Given the description of an element on the screen output the (x, y) to click on. 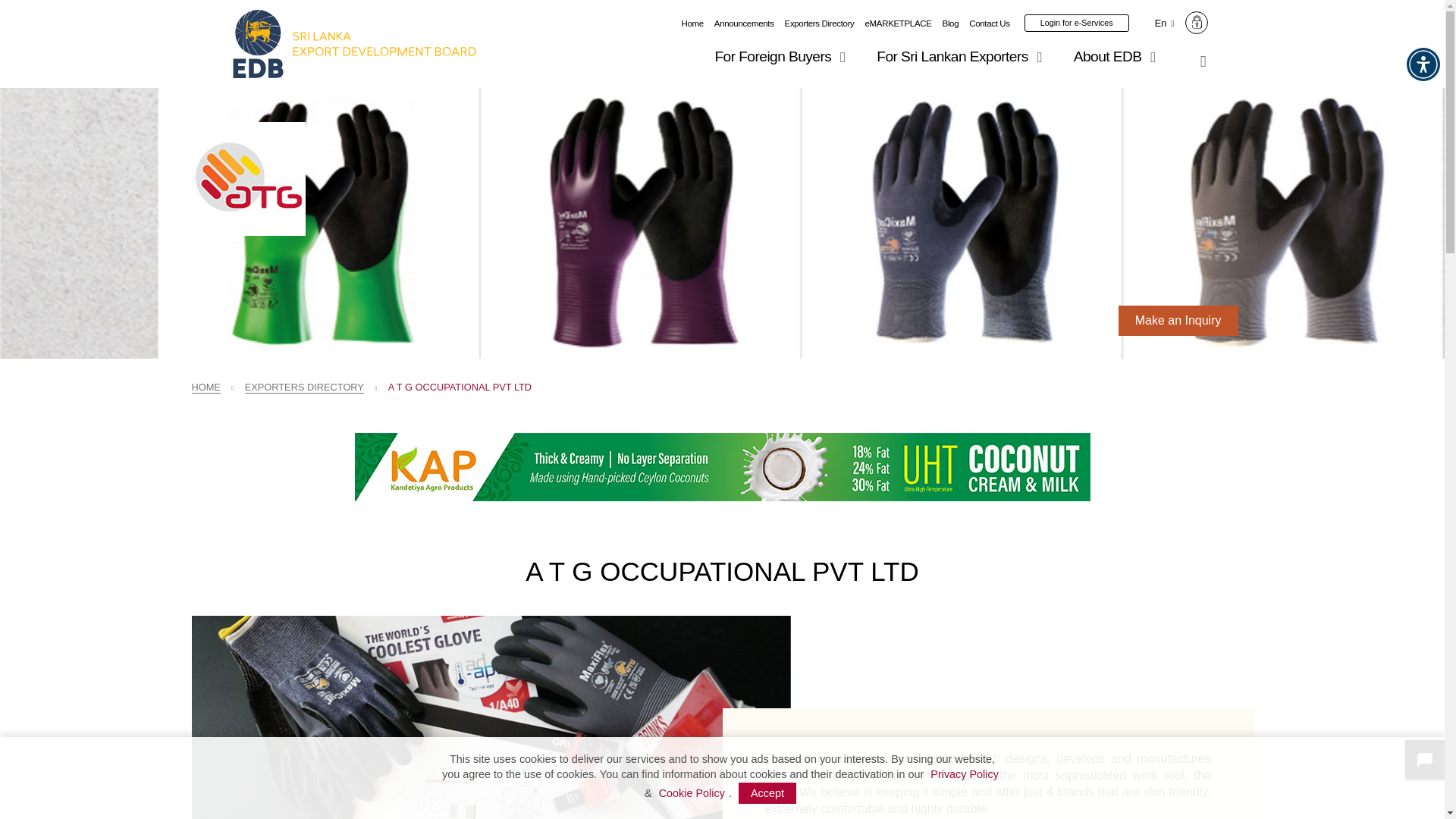
About EDB (1117, 56)
For Foreign Buyers (782, 56)
Login for e-Services (1077, 22)
Sign in (1196, 22)
Exporters Directory (819, 22)
Blog (950, 22)
For Sri Lankan Exporters (961, 56)
Login for e-Services (1077, 22)
Make an Inquiry (1178, 320)
Home (692, 22)
A T G OCCUPATIONAL PVT LTD (490, 717)
eMARKETPLACE (897, 22)
Make an Inquire (1178, 320)
A T G OCCUPATIONAL PVT LTD (247, 178)
Make an Inquiry (1178, 320)
